Given the description of an element on the screen output the (x, y) to click on. 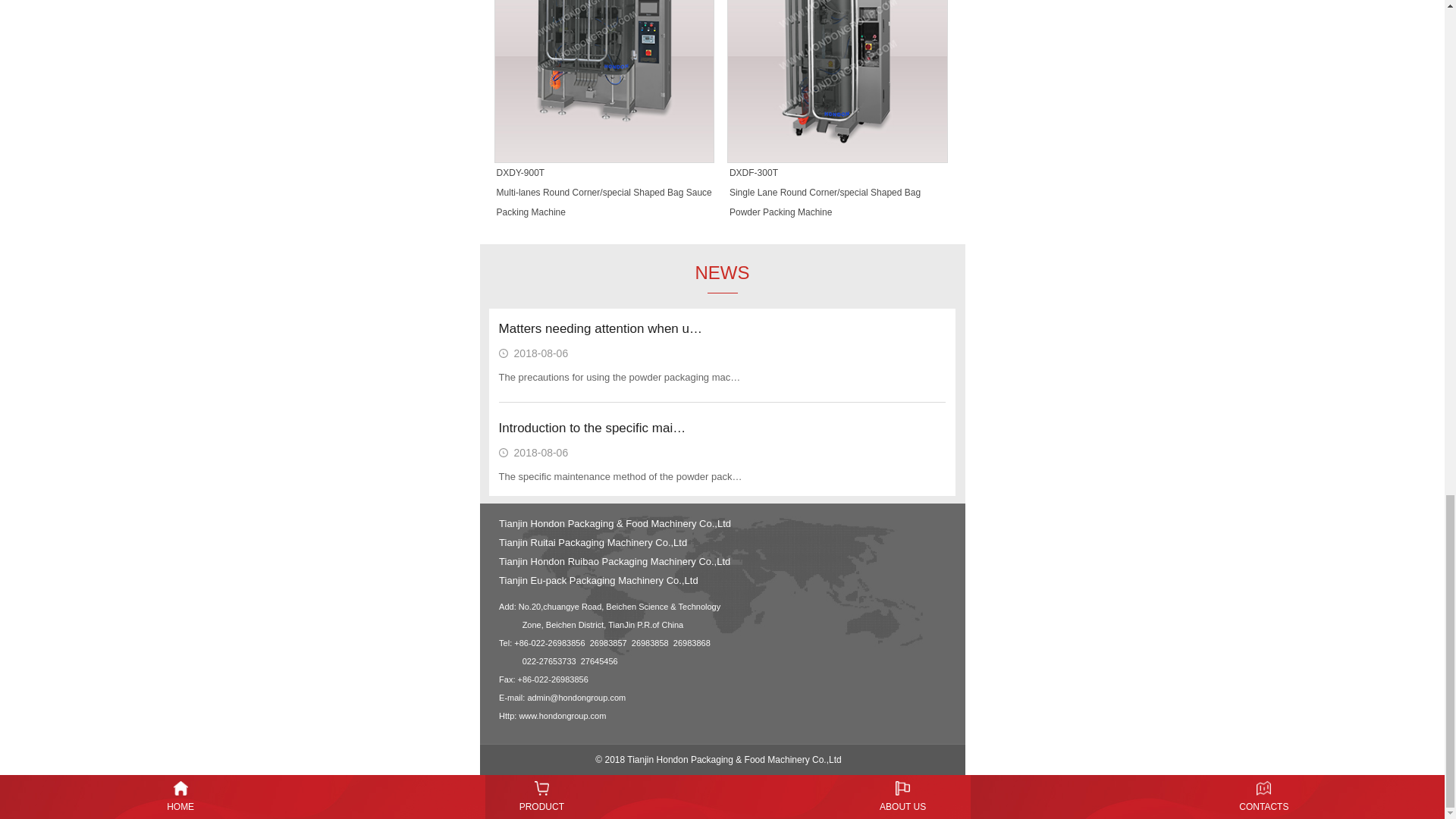
www.hondongroup.com (561, 715)
022-27653733 (549, 660)
26983858 (649, 642)
26983857 (608, 642)
26983868 (691, 642)
27645456 (598, 660)
